Given the description of an element on the screen output the (x, y) to click on. 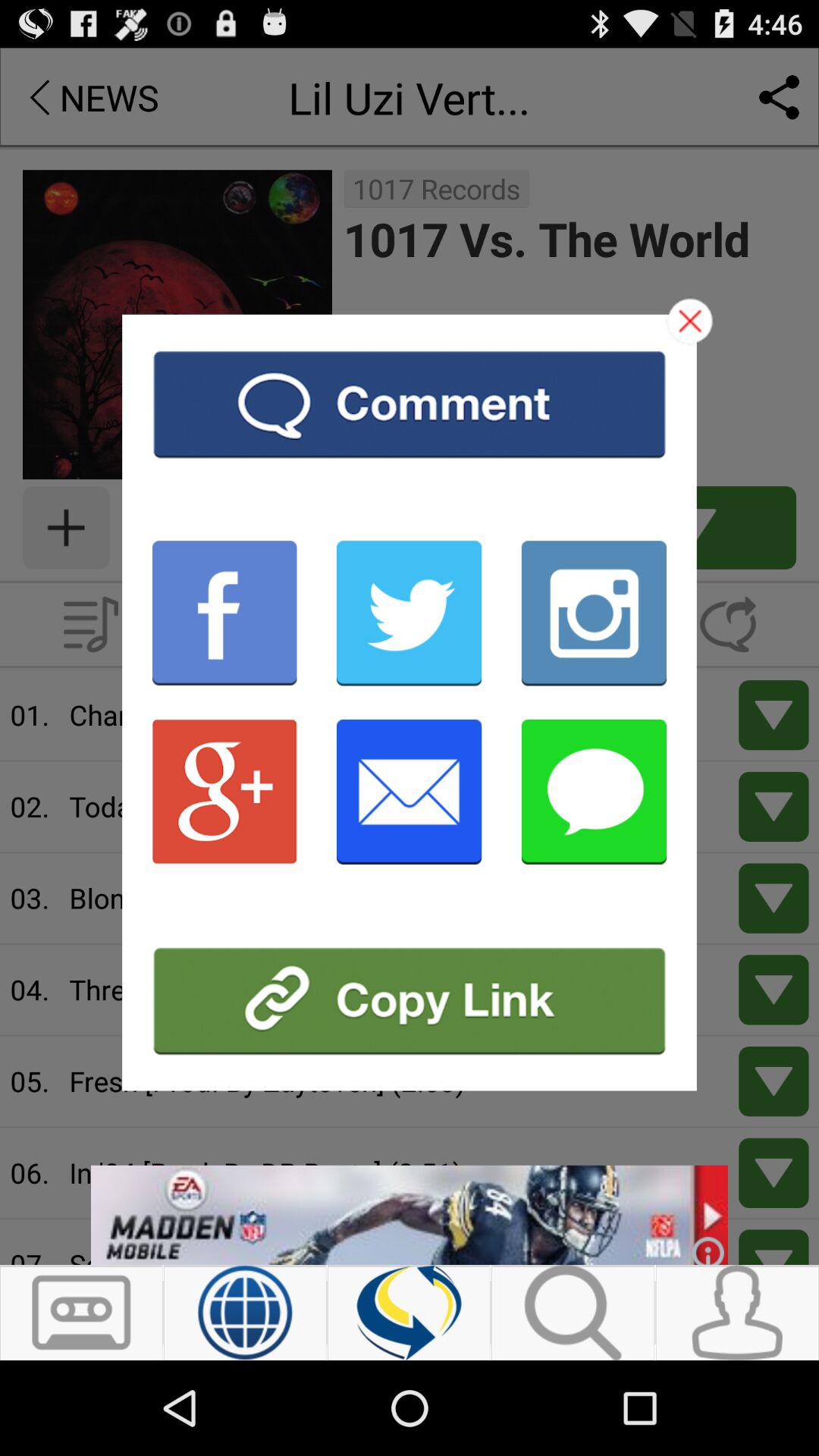
make a comment on facebook (224, 612)
